Given the description of an element on the screen output the (x, y) to click on. 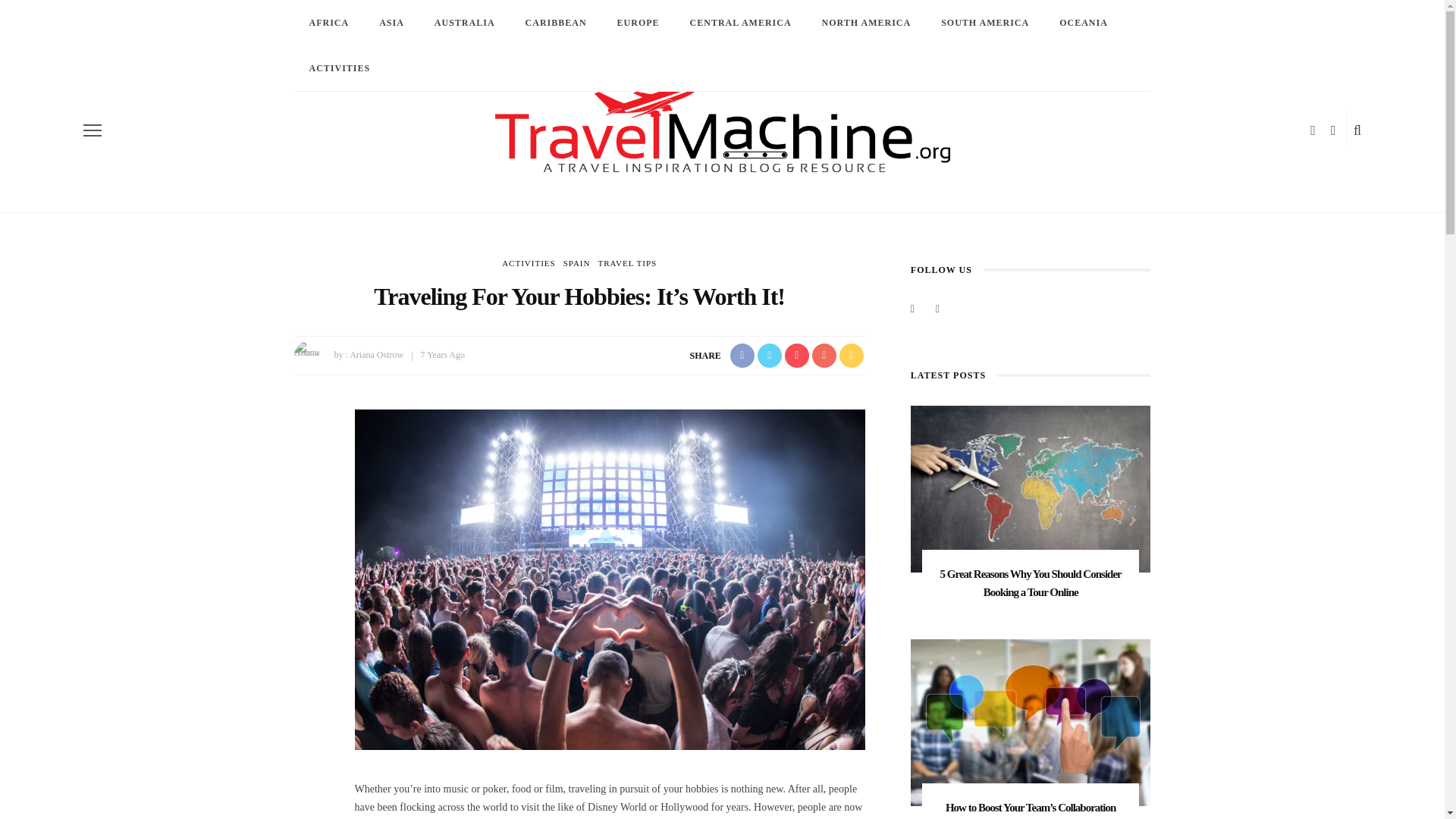
off canvas button (91, 130)
Spain (577, 262)
Travel Tips (626, 262)
Activities (529, 262)
